Given the description of an element on the screen output the (x, y) to click on. 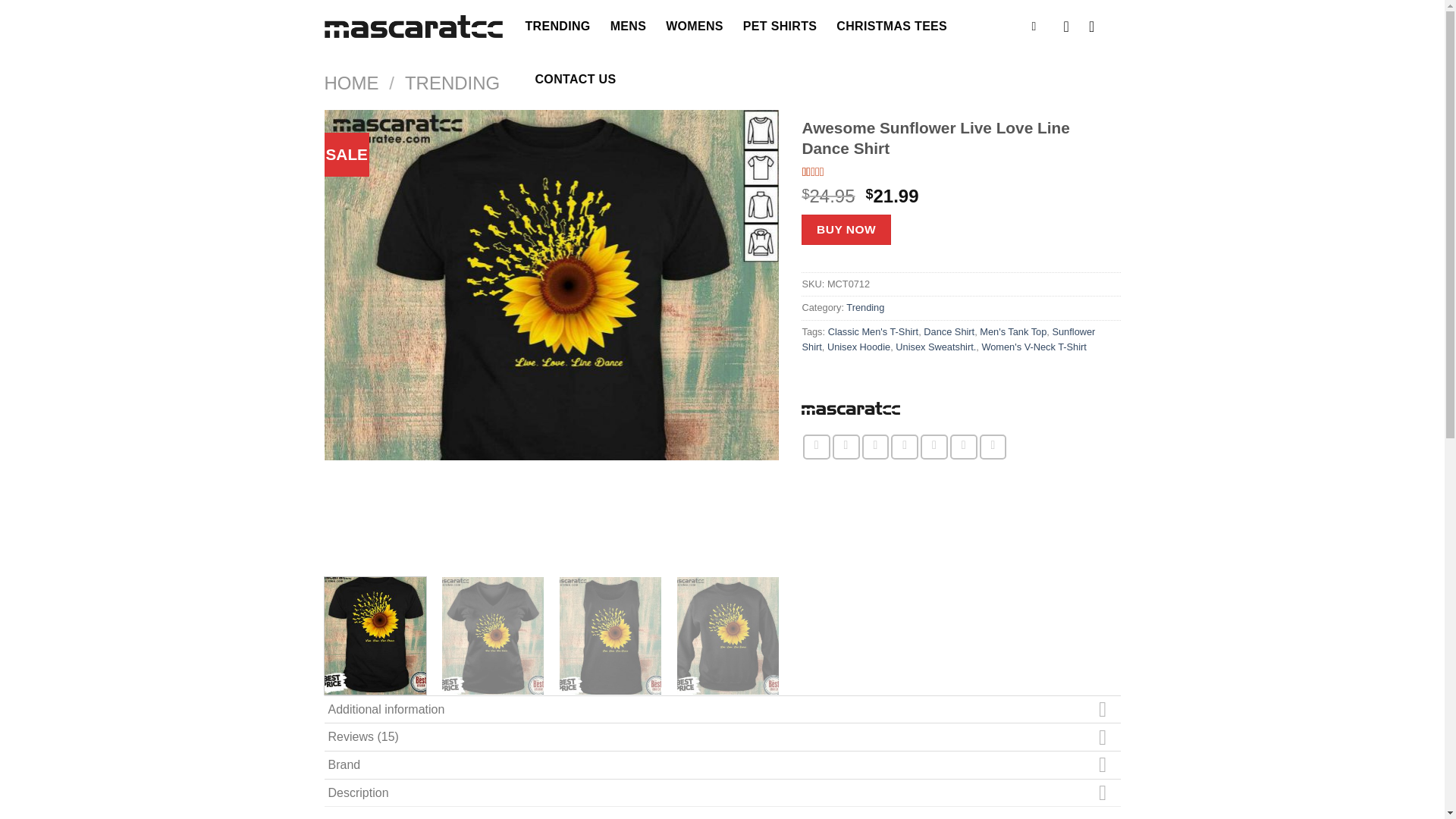
Men's Tank Top (1012, 331)
Email to a Friend (875, 446)
TRENDING (451, 82)
Unisex Hoodie (858, 346)
Share on Twitter (846, 446)
Women's V-Neck T-Shirt (1033, 346)
Share on LinkedIn (963, 446)
HOME (351, 82)
